Given the description of an element on the screen output the (x, y) to click on. 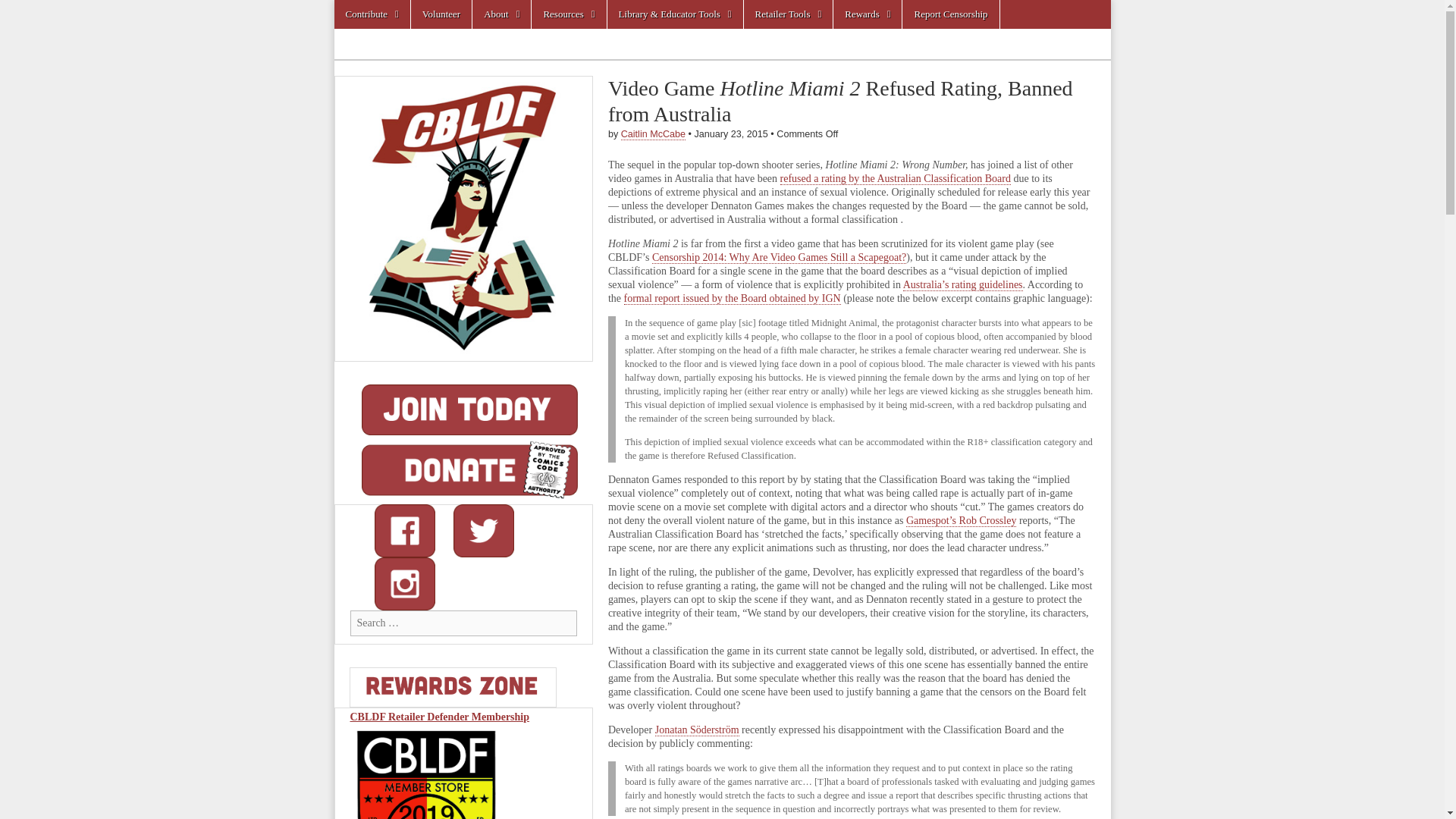
Resources (568, 14)
Contribute (371, 14)
About (501, 14)
Retail Tools (788, 14)
Posts by Caitlin McCabe (653, 134)
Volunteer (440, 14)
